Given the description of an element on the screen output the (x, y) to click on. 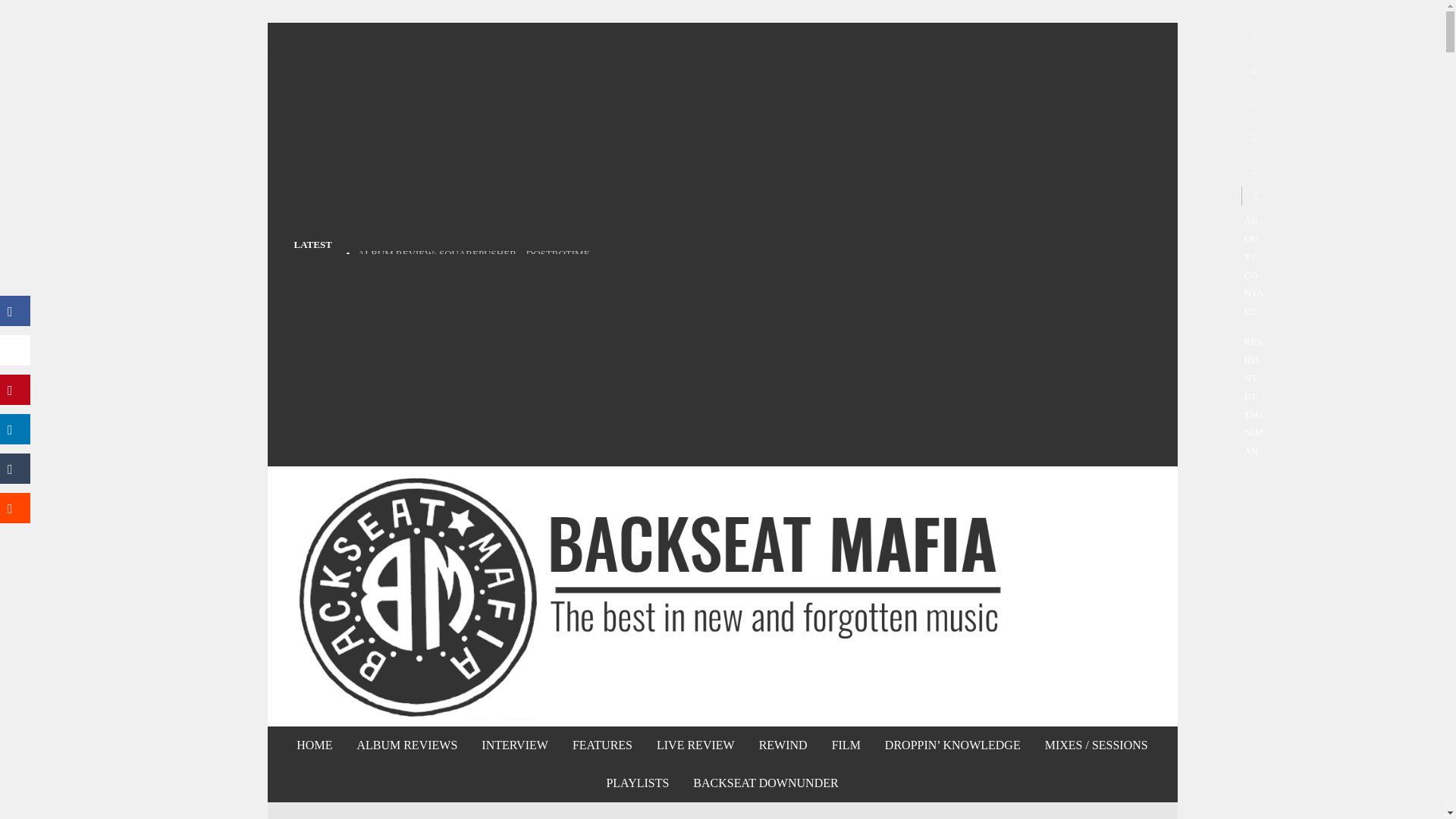
PLAYLISTS (637, 783)
FEATURES (602, 745)
FILM (845, 745)
LIVE REVIEW (695, 745)
ALBUM REVIEWS (405, 745)
HOME (313, 745)
INTERVIEW (514, 745)
REWIND (782, 745)
